Given the description of an element on the screen output the (x, y) to click on. 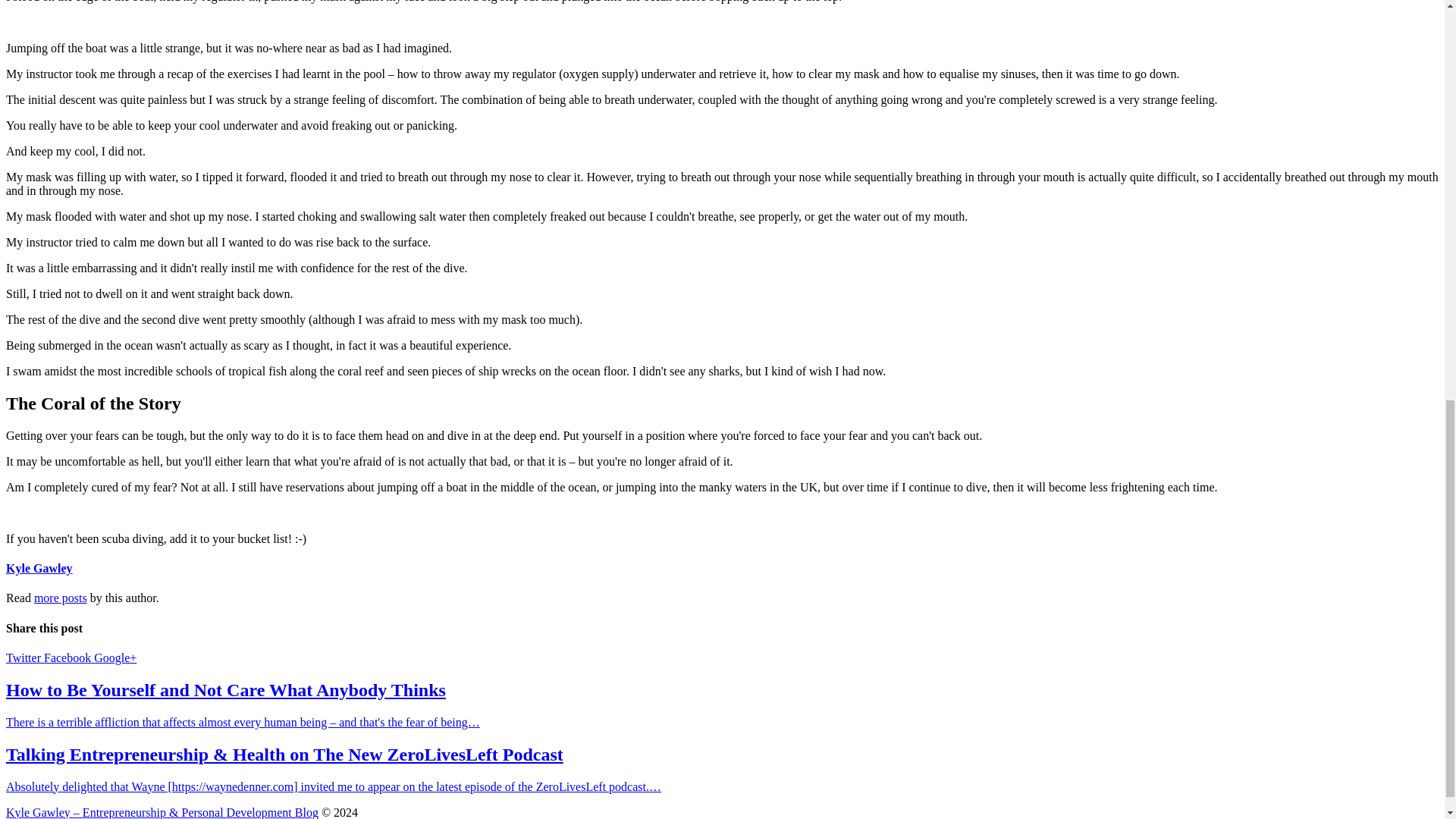
Twitter (24, 657)
Facebook (68, 657)
more posts (60, 597)
Kyle Gawley (38, 567)
